Given the description of an element on the screen output the (x, y) to click on. 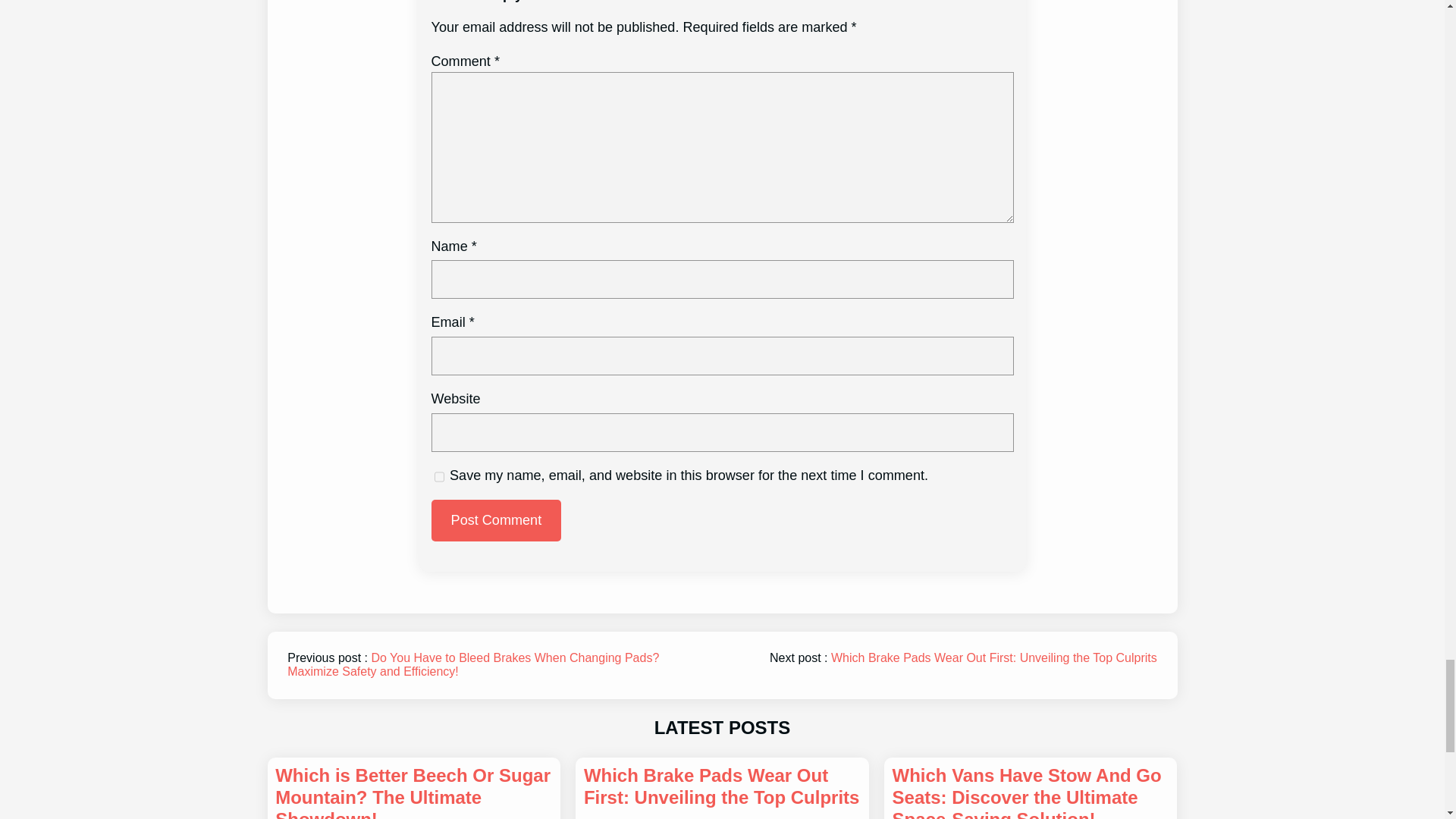
Which Brake Pads Wear Out First: Unveiling the Top Culprits (994, 657)
Post Comment (495, 520)
Which Brake Pads Wear Out First: Unveiling the Top Culprits (721, 786)
Post Comment (495, 520)
